Given the description of an element on the screen output the (x, y) to click on. 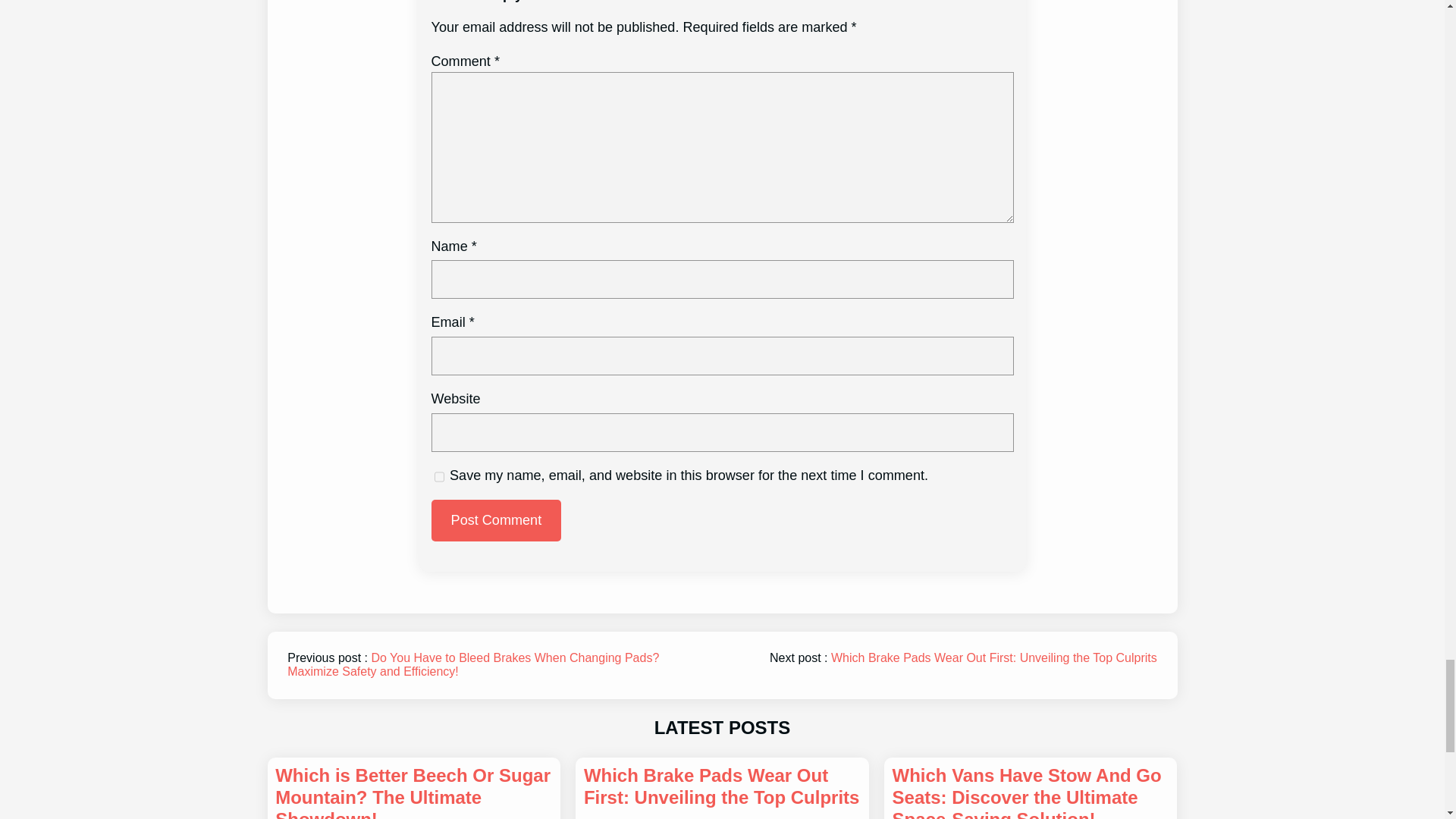
Which Brake Pads Wear Out First: Unveiling the Top Culprits (994, 657)
Post Comment (495, 520)
Which Brake Pads Wear Out First: Unveiling the Top Culprits (721, 786)
Post Comment (495, 520)
